Given the description of an element on the screen output the (x, y) to click on. 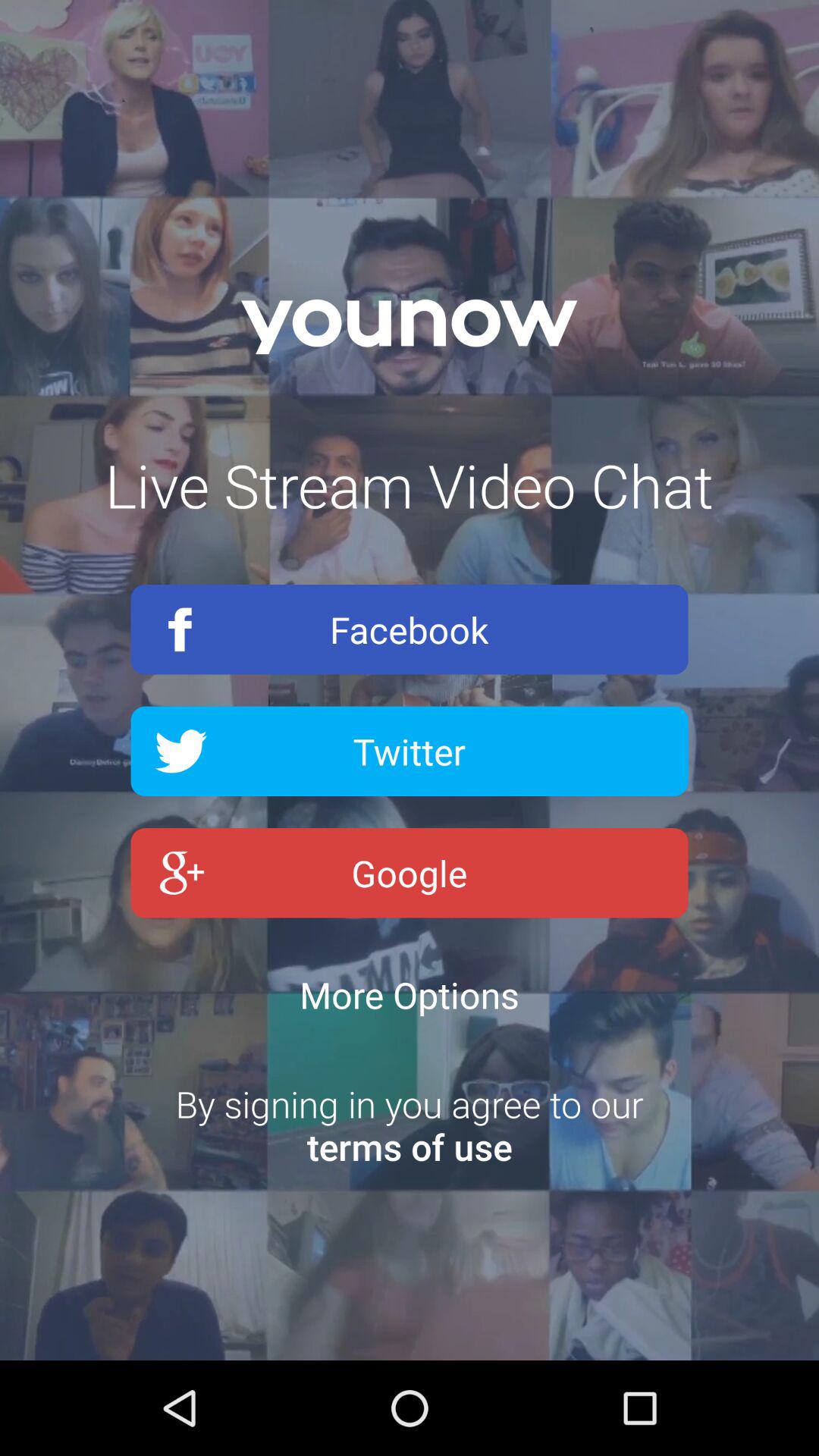
login with facebook (409, 629)
